Given the description of an element on the screen output the (x, y) to click on. 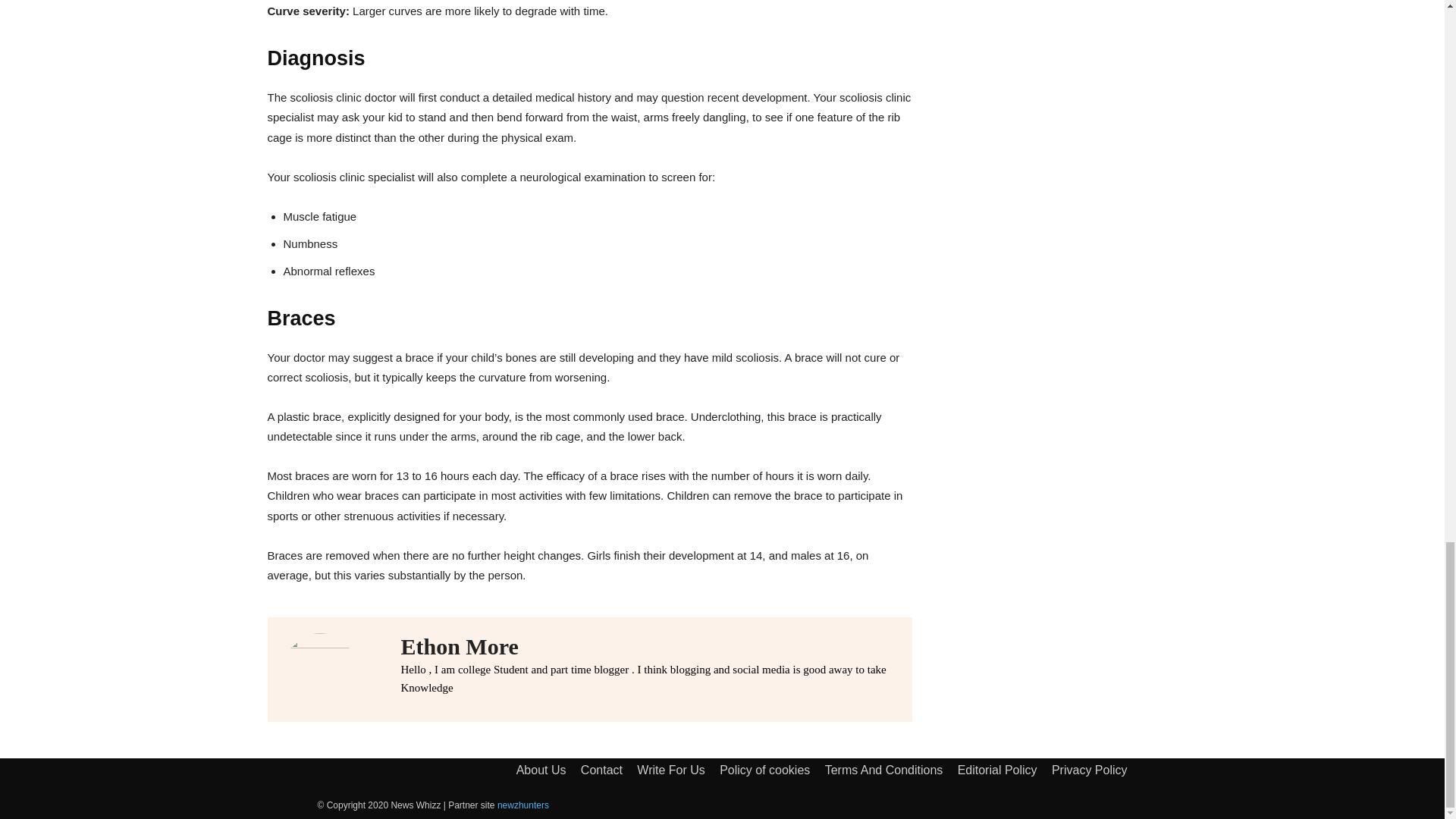
About Us (541, 770)
Contact (601, 770)
Ethon More (648, 646)
